Given the description of an element on the screen output the (x, y) to click on. 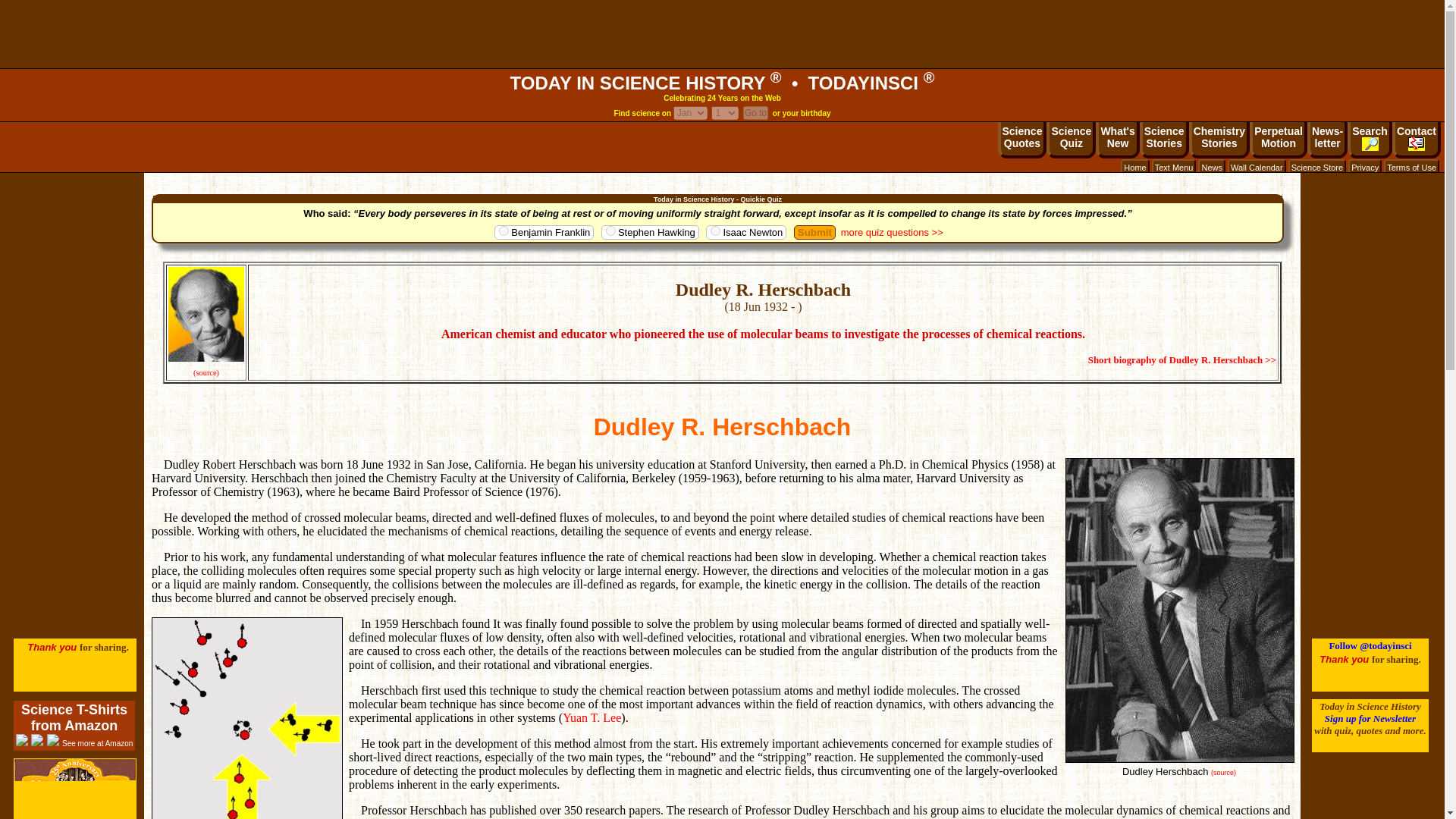
Our Science Store books and more (1316, 167)
Perpetual motion machines described (1278, 140)
Select Month first, and then Day (1278, 140)
Privacy (689, 112)
Text Menu (1364, 167)
Yuan T. Lee (1173, 167)
Terms of Use (591, 717)
Select Month first (1071, 140)
Index to Science Quotations (1411, 167)
News feeds (724, 112)
Submit (1327, 140)
Wall Calendar (1021, 140)
